Given the description of an element on the screen output the (x, y) to click on. 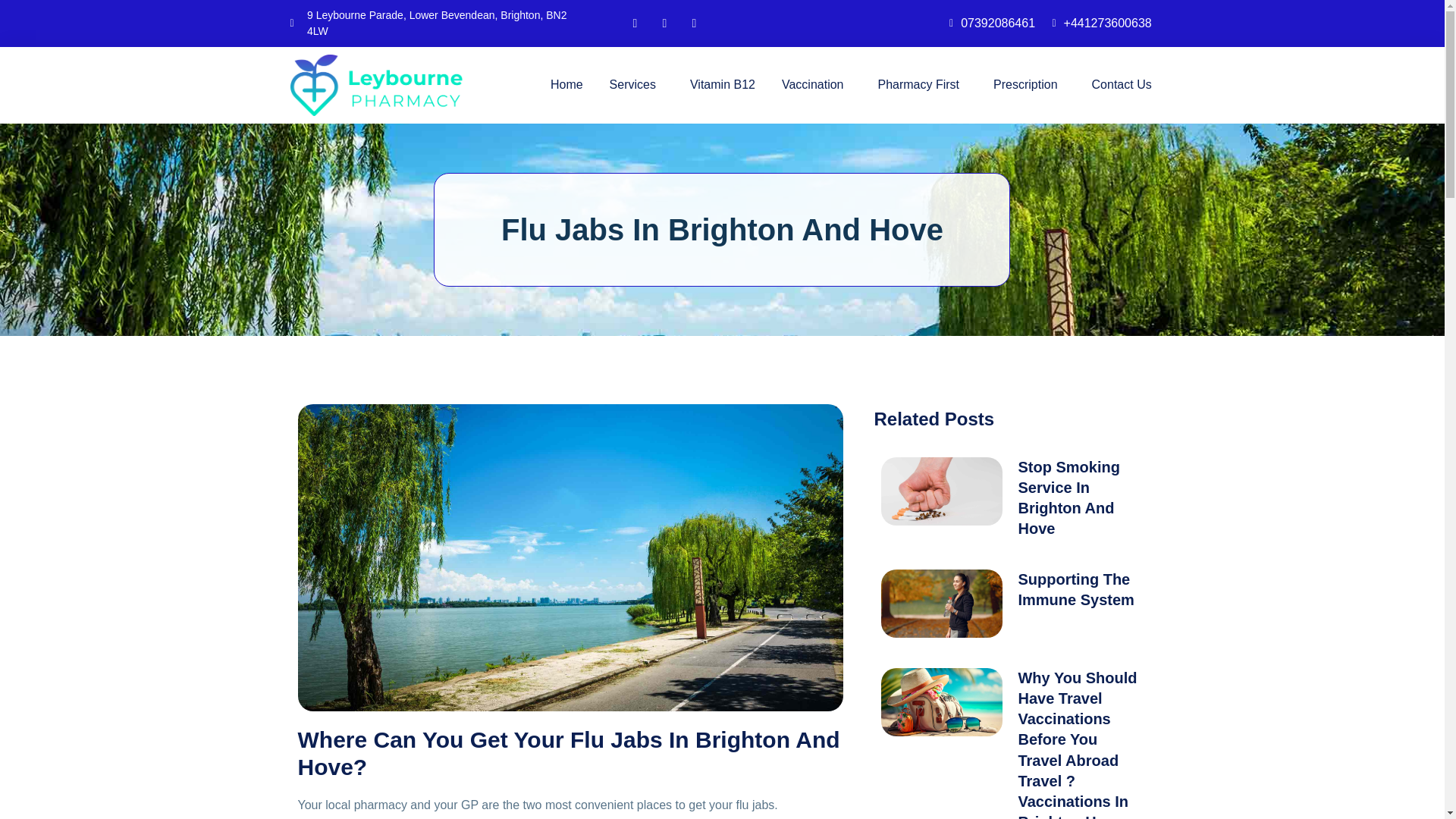
Vaccination (816, 84)
Services (636, 84)
9 Leybourne Parade, Lower Bevendean, Brighton, BN2 4LW (433, 23)
Contact Us (1121, 84)
Vitamin B12 (722, 84)
07392086461 (987, 23)
Pharmacy First (921, 84)
Prescription (1028, 84)
Home (566, 84)
